Given the description of an element on the screen output the (x, y) to click on. 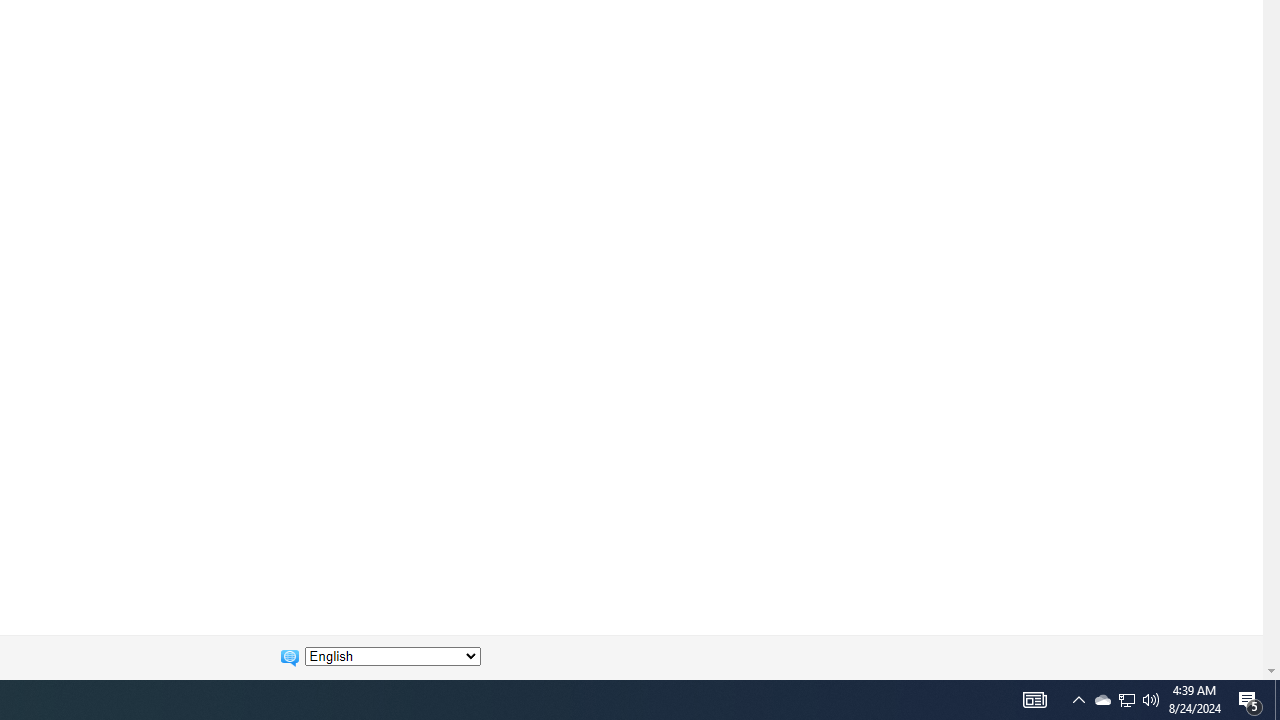
Change language: (392, 656)
